Given the description of an element on the screen output the (x, y) to click on. 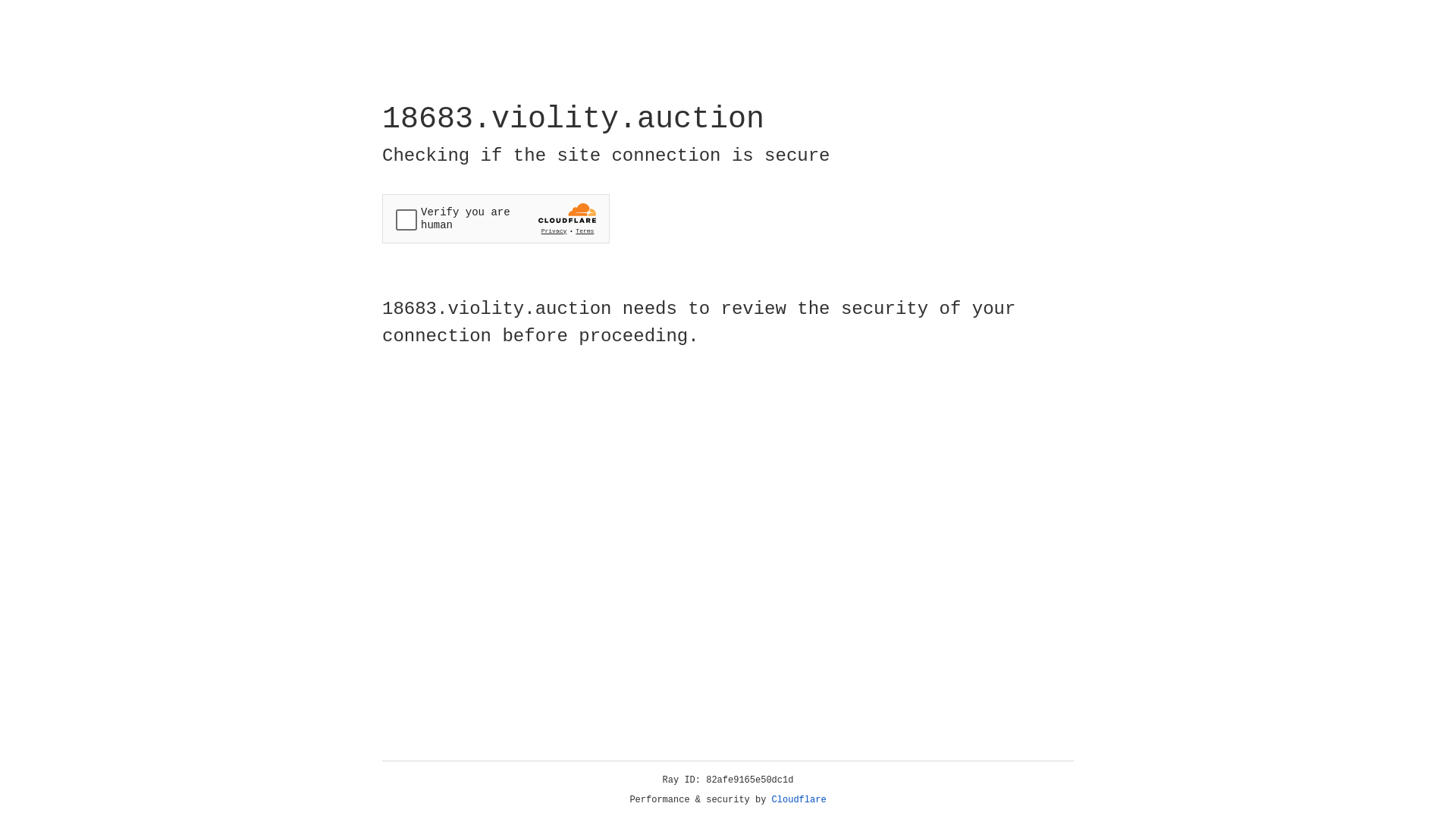
Widget containing a Cloudflare security challenge Element type: hover (495, 218)
Cloudflare Element type: text (798, 799)
